Given the description of an element on the screen output the (x, y) to click on. 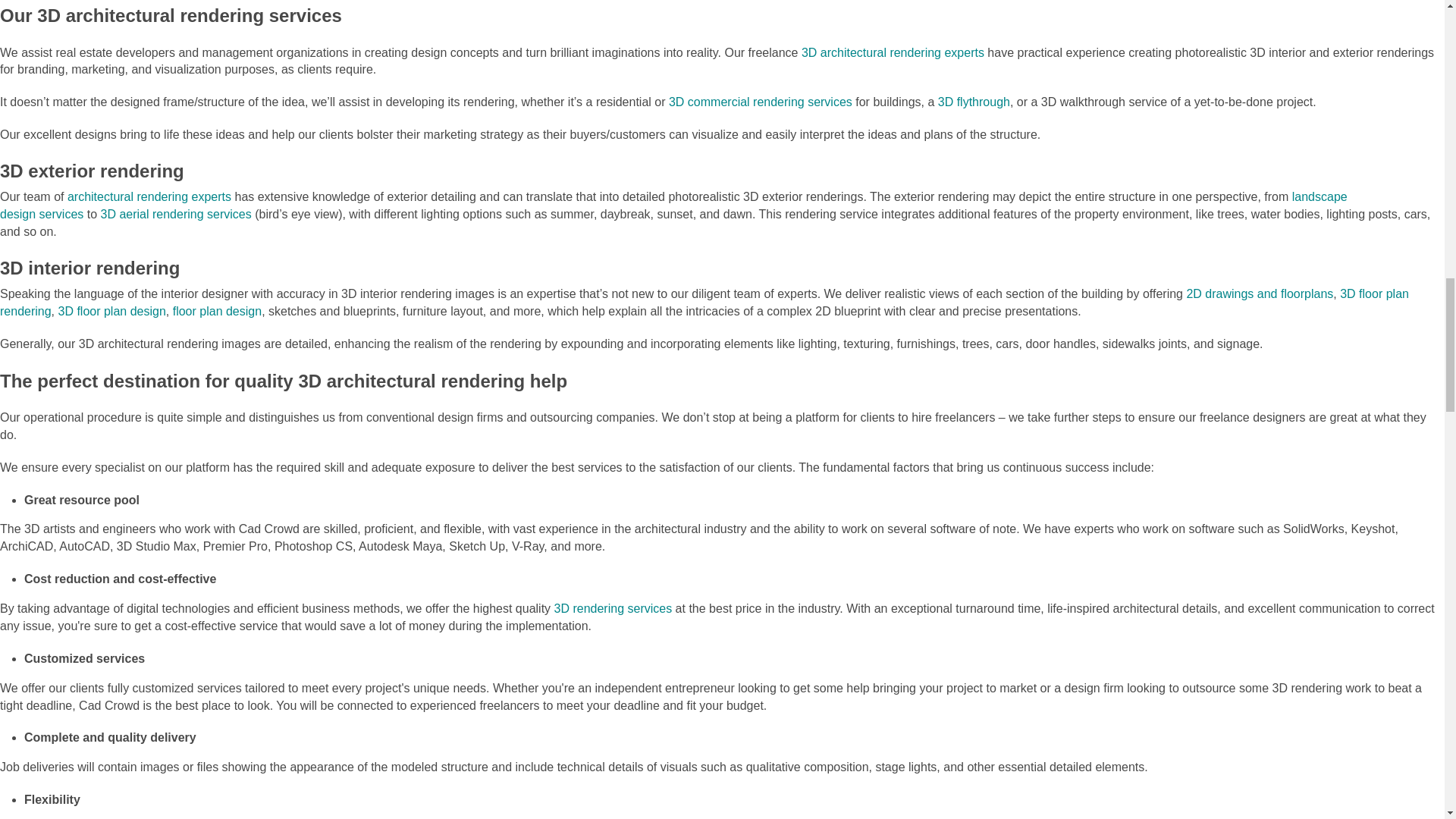
3D commercial rendering services (759, 101)
2D drawings and floorplans (1259, 293)
3D aerial rendering services (175, 214)
architectural rendering experts (148, 196)
floor plan design (217, 310)
3D floor plan rendering (704, 302)
3D rendering services (613, 608)
3D architectural rendering experts (893, 51)
